Given the description of an element on the screen output the (x, y) to click on. 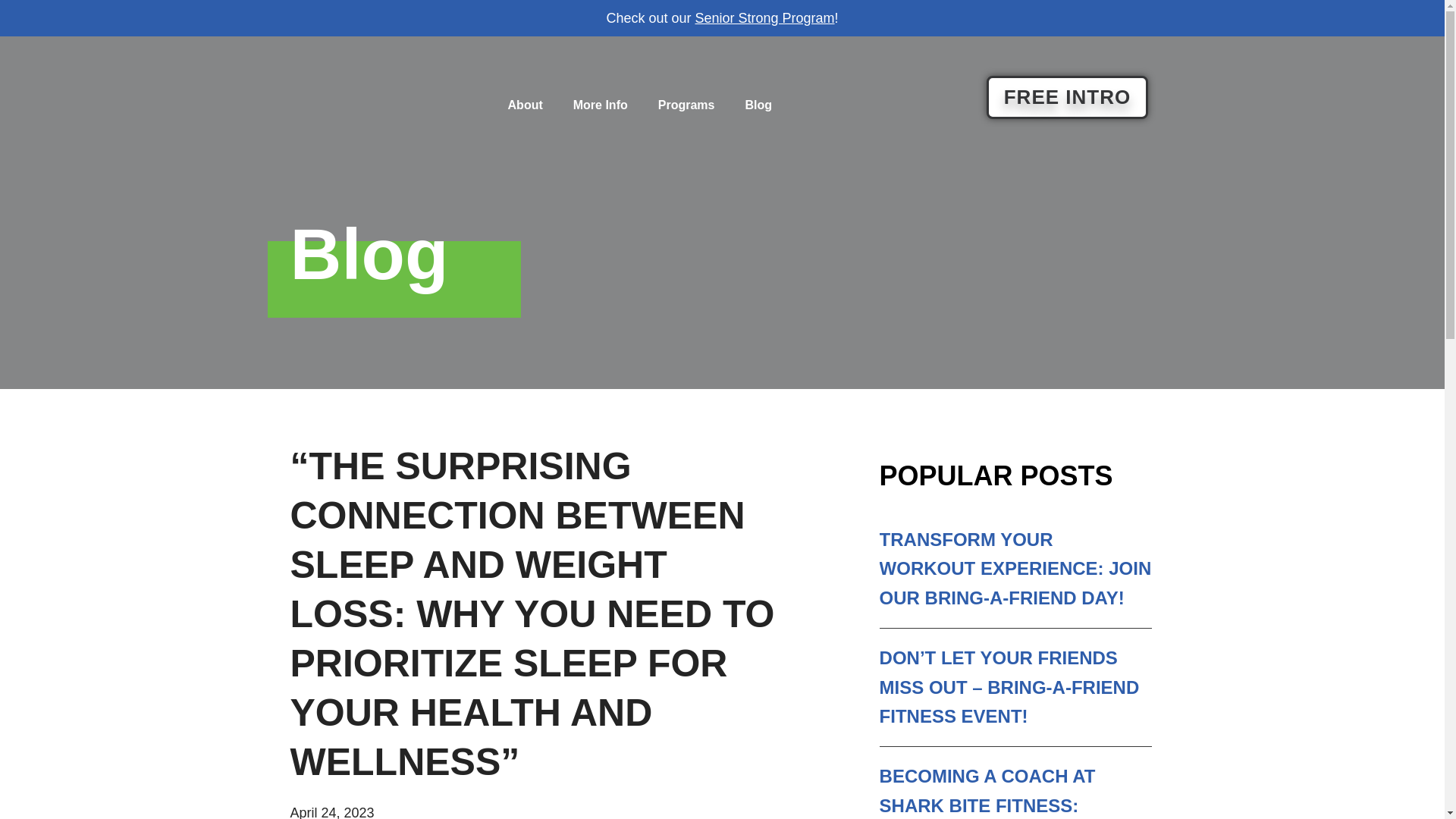
Programs (686, 104)
FREE INTRO (1067, 97)
More Info (600, 104)
Senior Strong Program (764, 17)
About (525, 104)
Blog (758, 104)
